Given the description of an element on the screen output the (x, y) to click on. 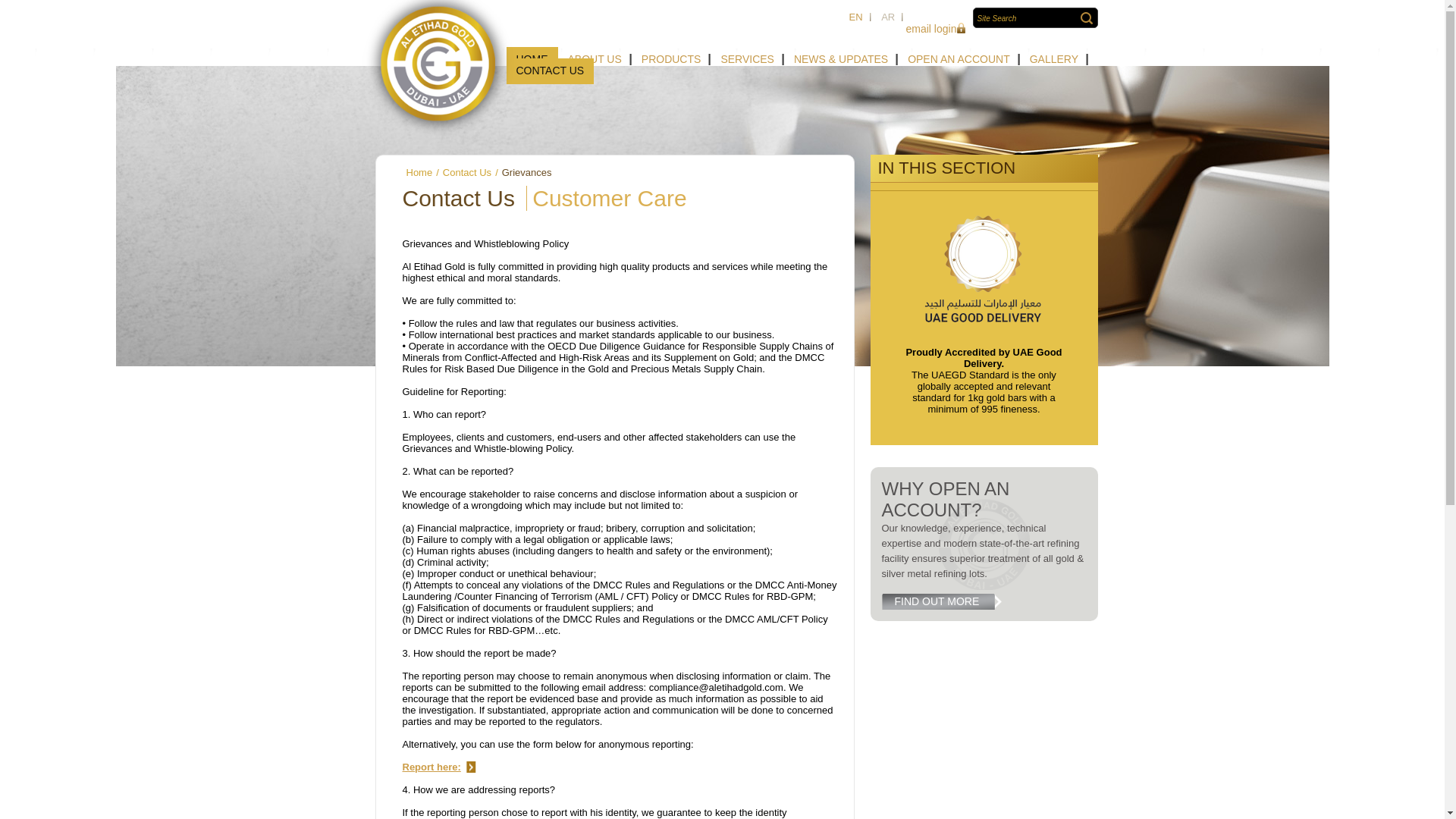
email login (933, 28)
HOME (531, 59)
Site Search (1027, 17)
Search (1086, 18)
Home (418, 172)
English (855, 16)
PRODUCTS (671, 59)
Search (1086, 18)
EN (855, 16)
Arabic (887, 16)
Contact Us (467, 172)
PRODUCTS (671, 59)
FIND OUT MORE (944, 601)
Back to Homepage (437, 69)
Search (1086, 18)
